Given the description of an element on the screen output the (x, y) to click on. 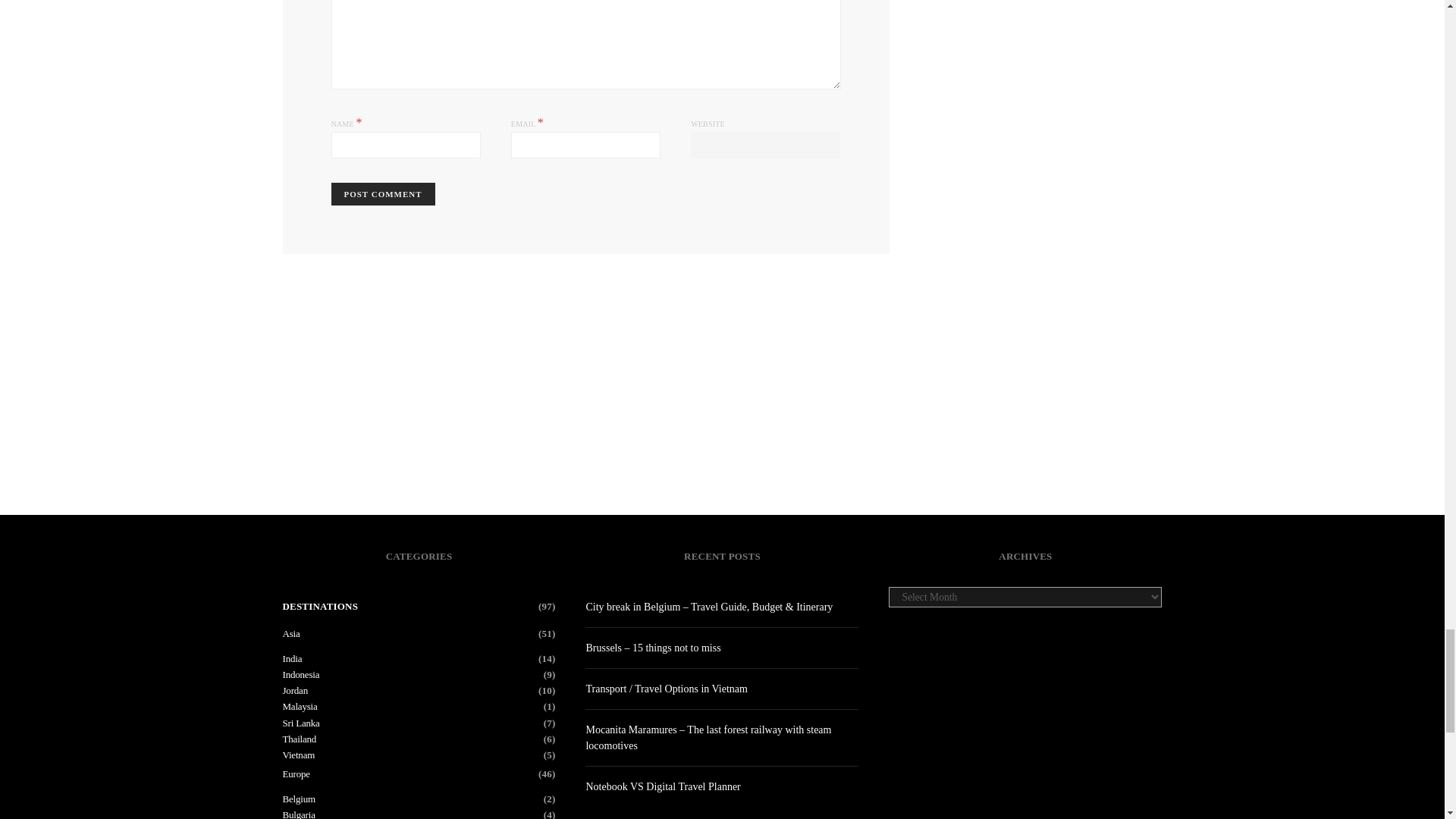
Post Comment (381, 194)
